Given the description of an element on the screen output the (x, y) to click on. 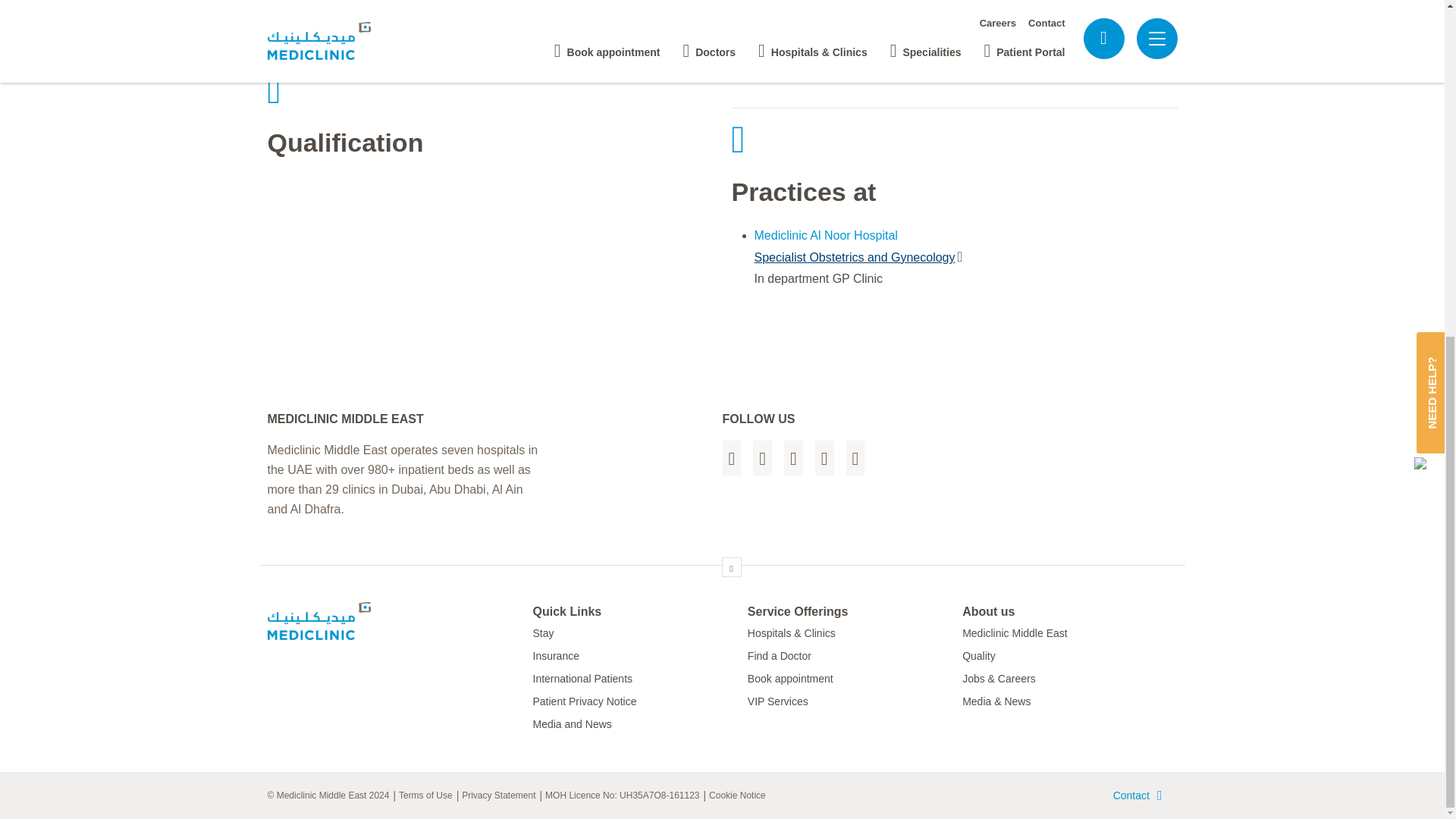
LinkedIn (793, 457)
Specialist Obstetrics and Gynecology (858, 257)
Scroll to Top (730, 566)
YouTube (824, 457)
Instagram (854, 457)
Twitter (761, 457)
Facebook (731, 457)
